Given the description of an element on the screen output the (x, y) to click on. 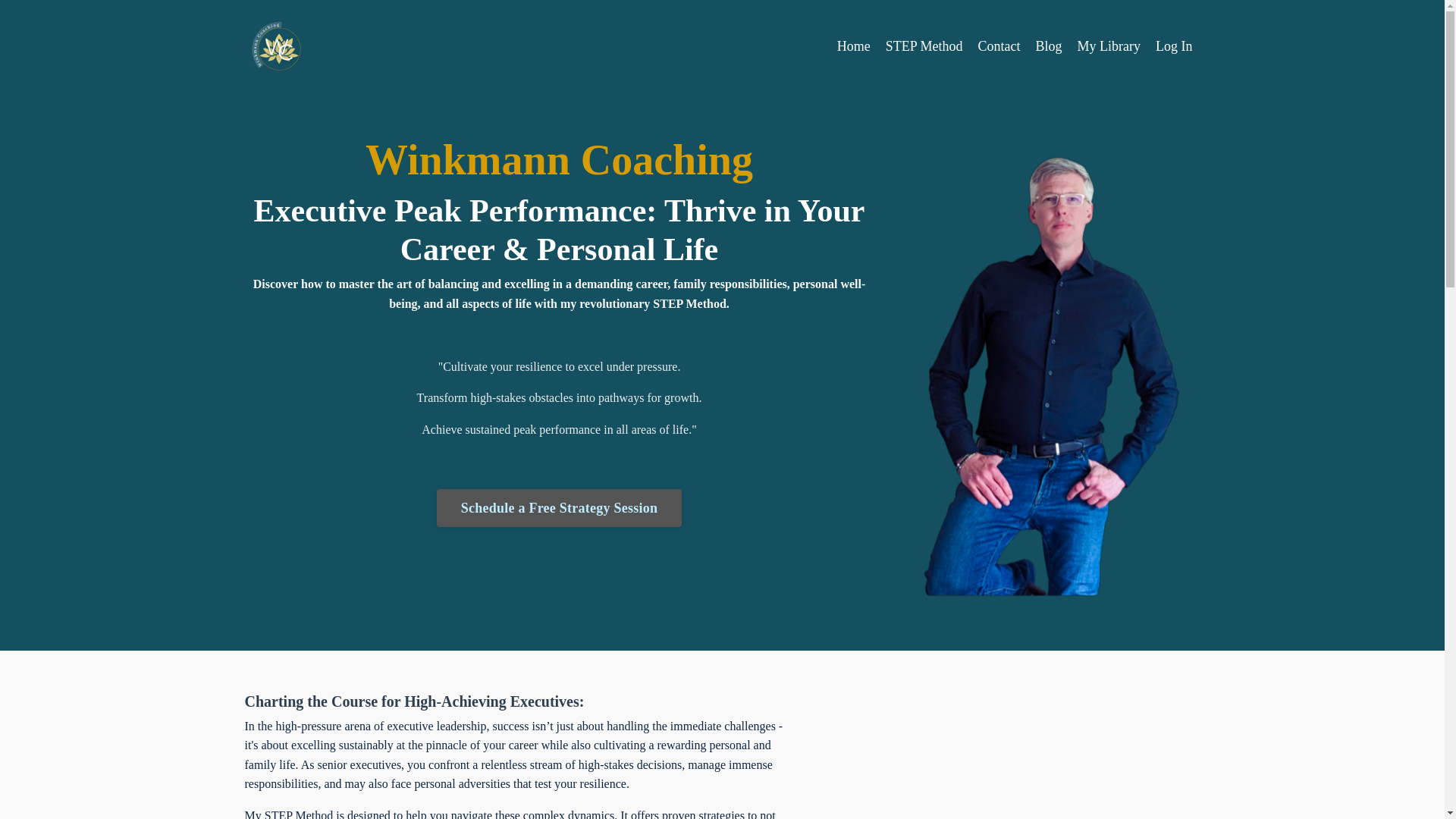
Schedule a Free Strategy Session (559, 507)
STEP Method (923, 46)
My Library (1108, 46)
Contact (999, 46)
Log In (1174, 46)
Home (853, 46)
Blog (1048, 46)
